Given the description of an element on the screen output the (x, y) to click on. 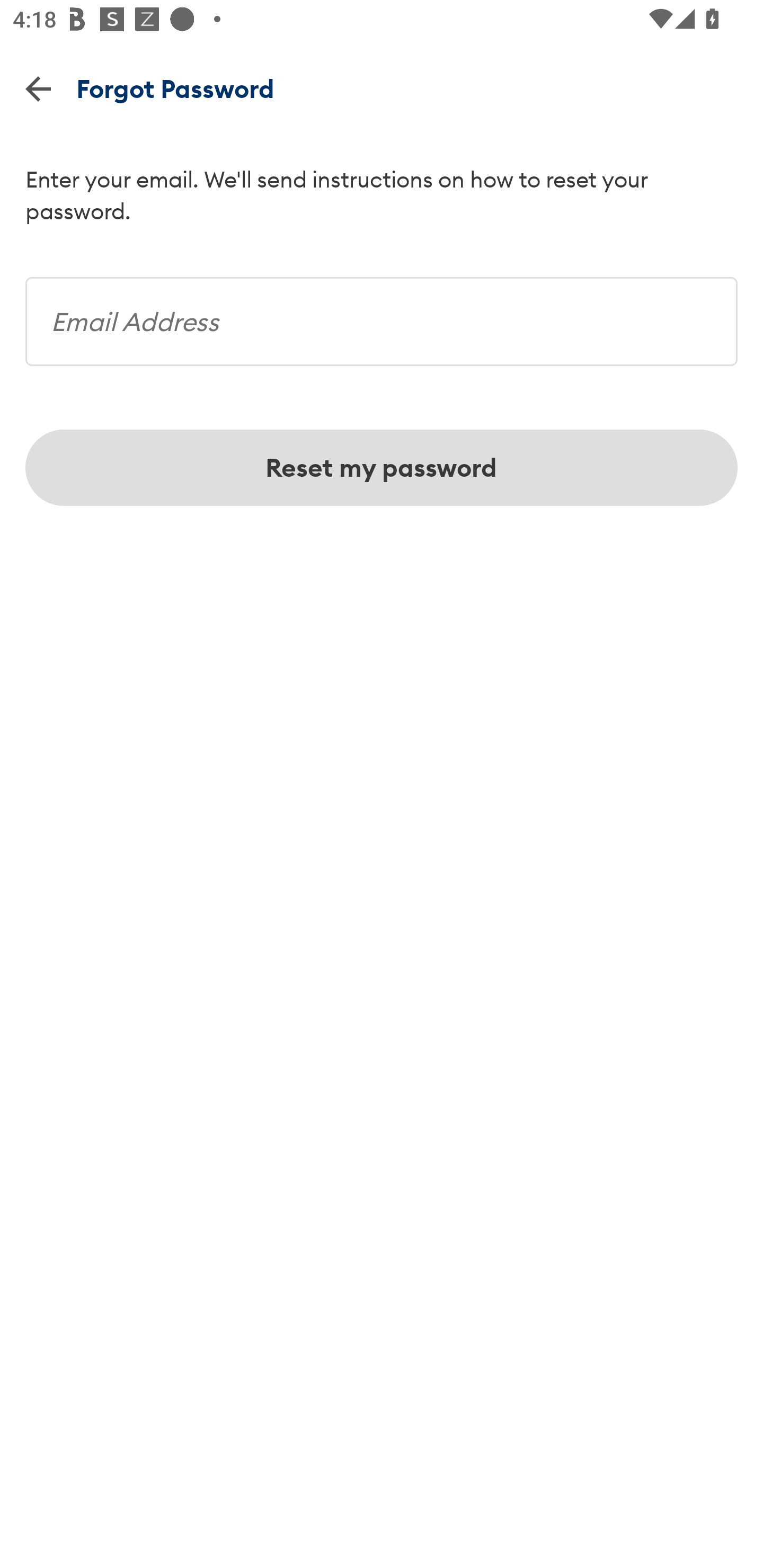
Back (38, 88)
Email Address (381, 314)
Reset my password (381, 467)
